Given the description of an element on the screen output the (x, y) to click on. 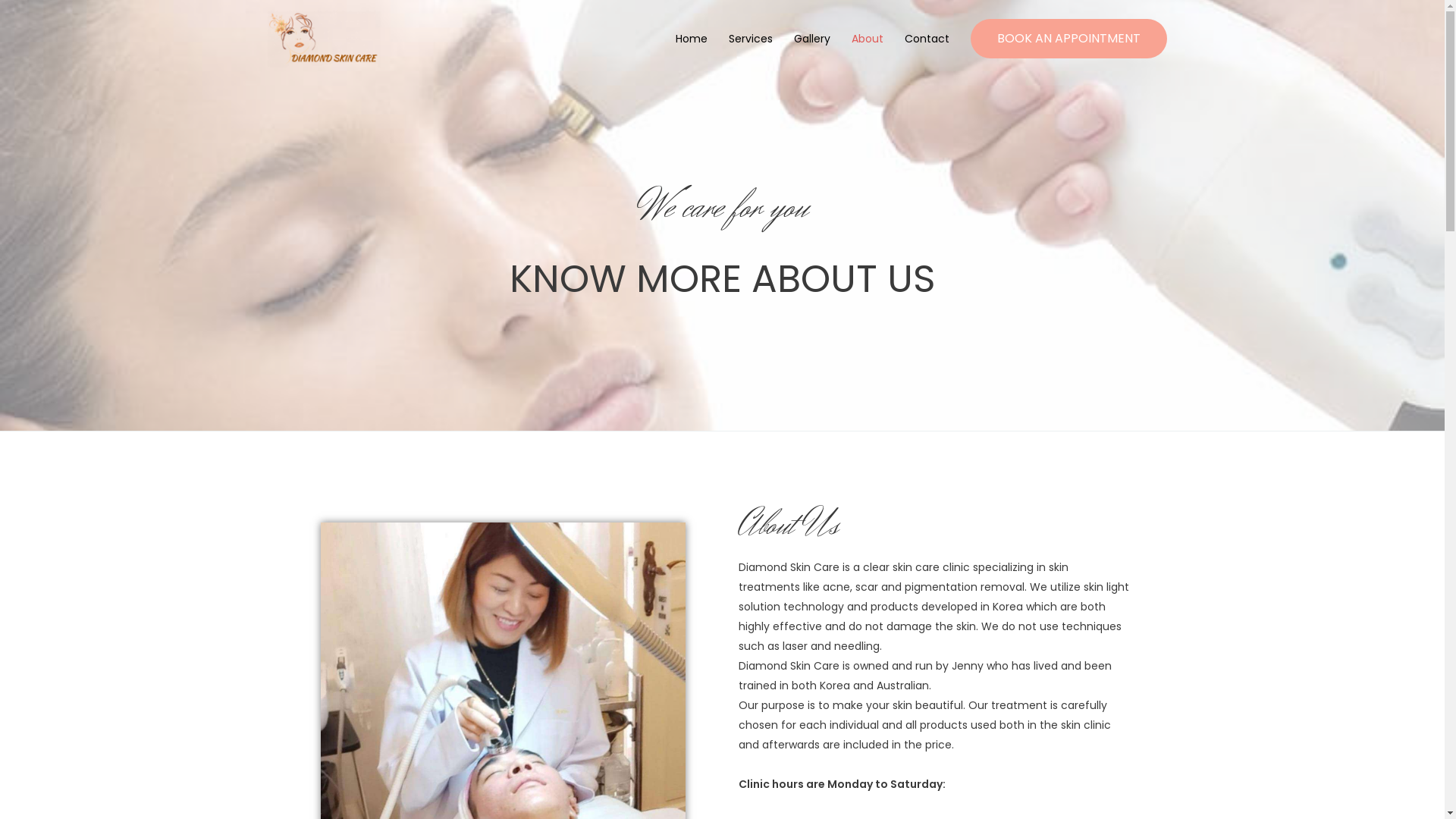
Services Element type: text (749, 38)
Home Element type: text (690, 38)
Contact Element type: text (926, 38)
About Element type: text (866, 38)
Gallery Element type: text (811, 38)
BOOK AN APPOINTMENT Element type: text (1068, 38)
